Given the description of an element on the screen output the (x, y) to click on. 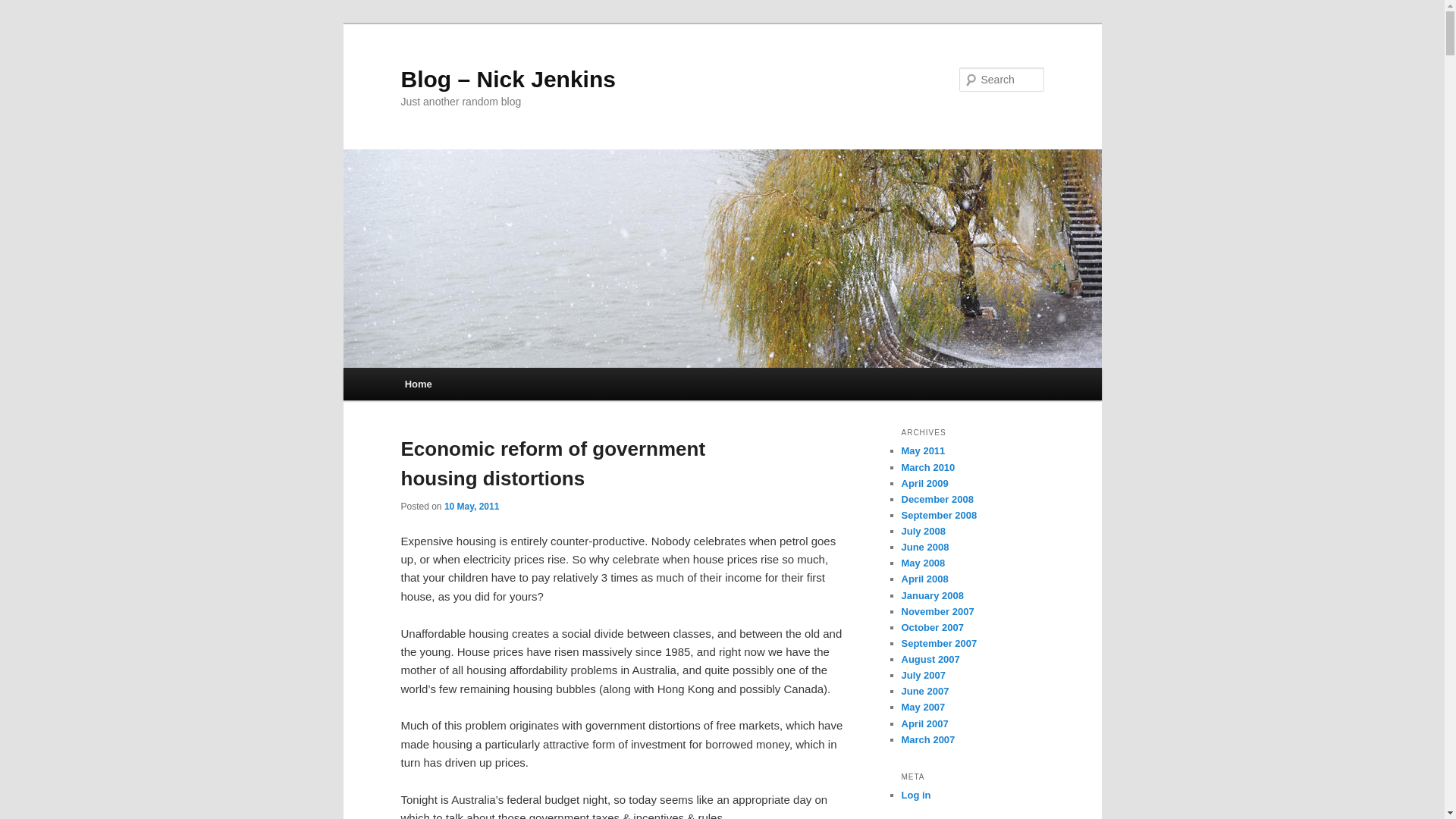
Economic reform of government housing distortions (552, 463)
Home (418, 383)
10 May, 2011 (471, 506)
Search (24, 8)
1:26 pm (471, 506)
